Given the description of an element on the screen output the (x, y) to click on. 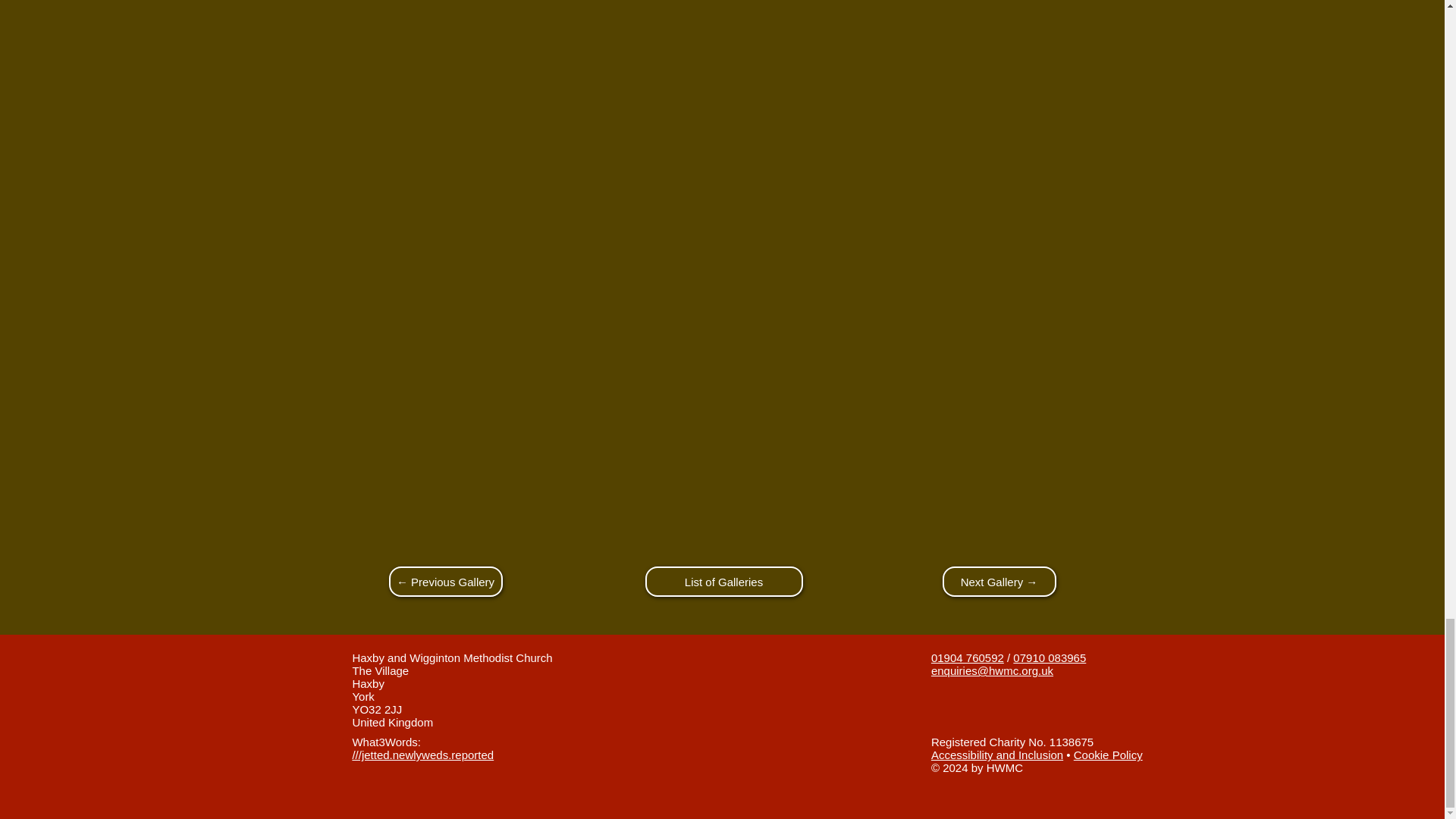
01904 760592 (967, 657)
Accessibility and Inclusion (996, 754)
List of Galleries (723, 581)
Cookie Policy (1108, 754)
07910 083965 (1049, 657)
